Given the description of an element on the screen output the (x, y) to click on. 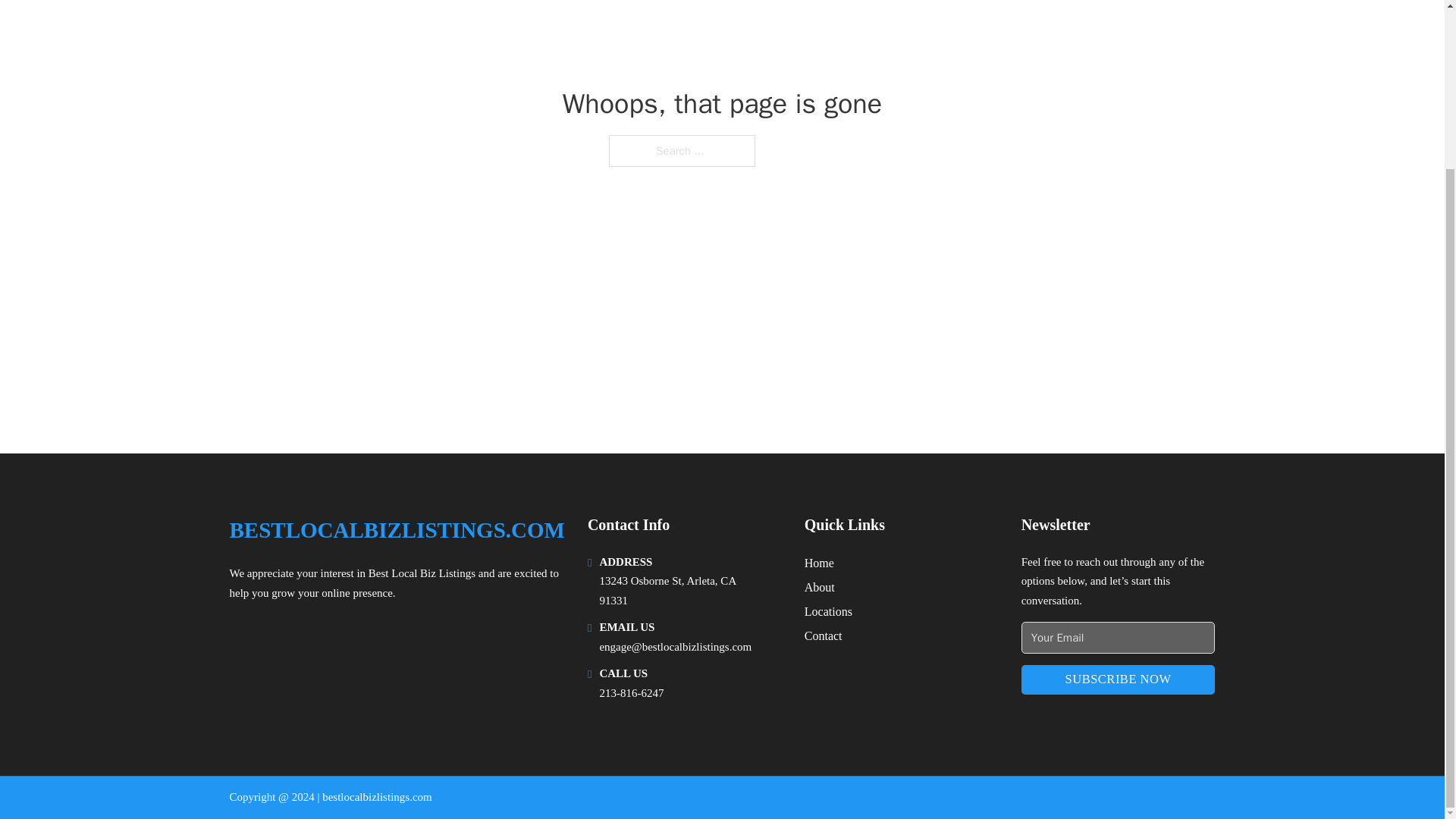
Home (819, 562)
BESTLOCALBIZLISTINGS.COM (396, 529)
Locations (828, 611)
SUBSCRIBE NOW (1118, 679)
Contact (824, 635)
213-816-6247 (630, 693)
About (819, 587)
